Given the description of an element on the screen output the (x, y) to click on. 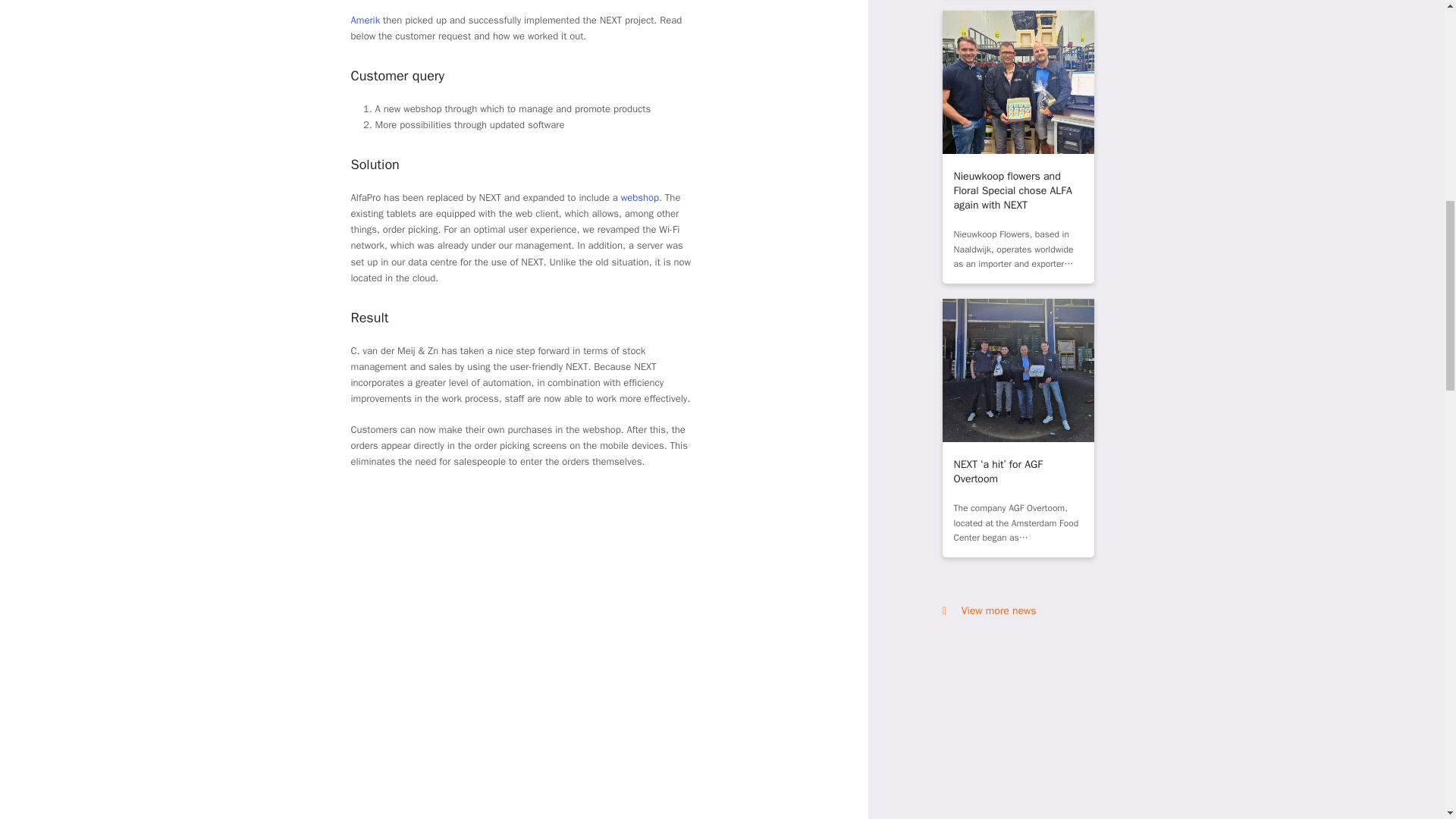
Amerik (365, 19)
webshop (640, 196)
